Given the description of an element on the screen output the (x, y) to click on. 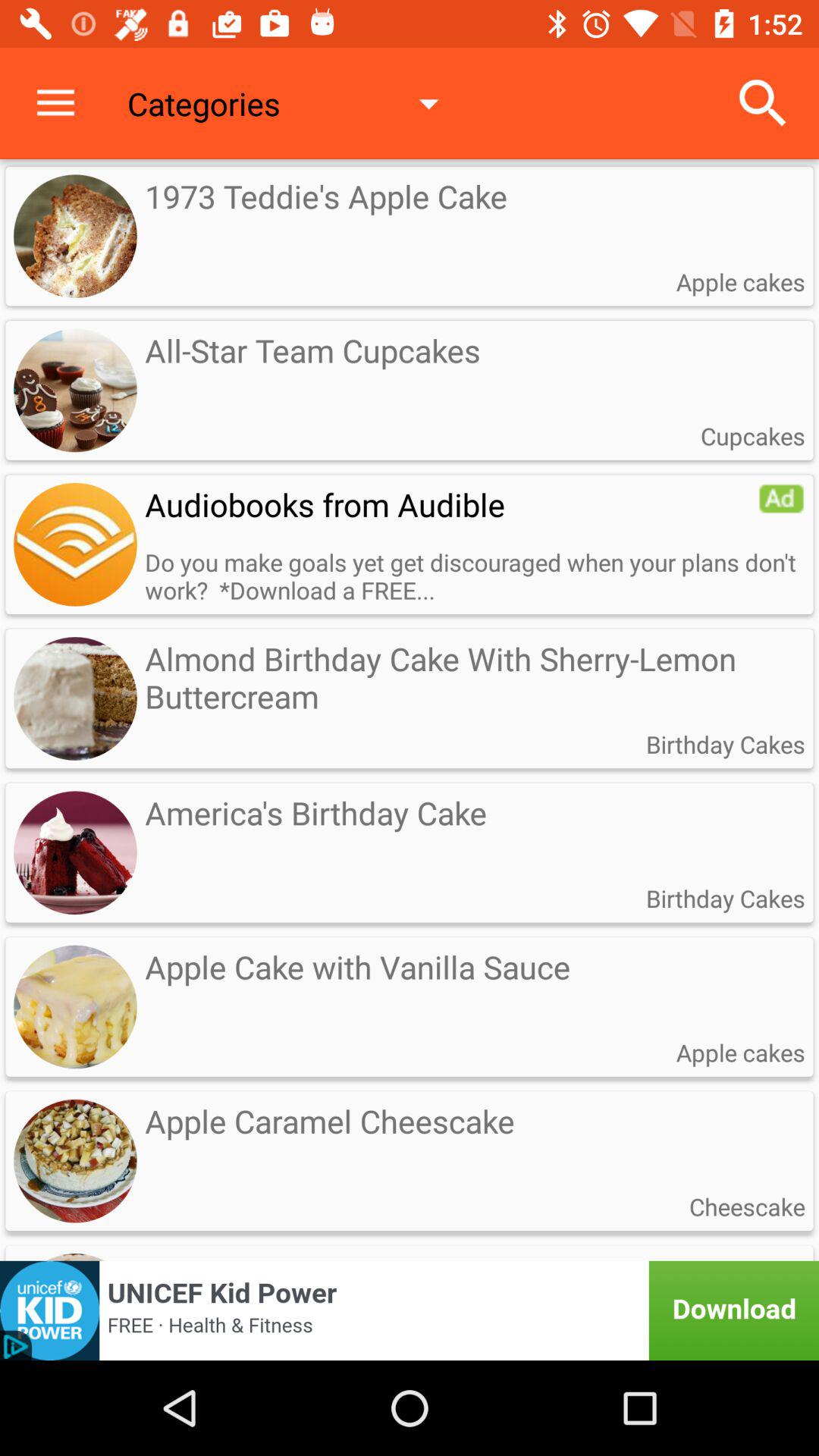
download the app (409, 1310)
